Given the description of an element on the screen output the (x, y) to click on. 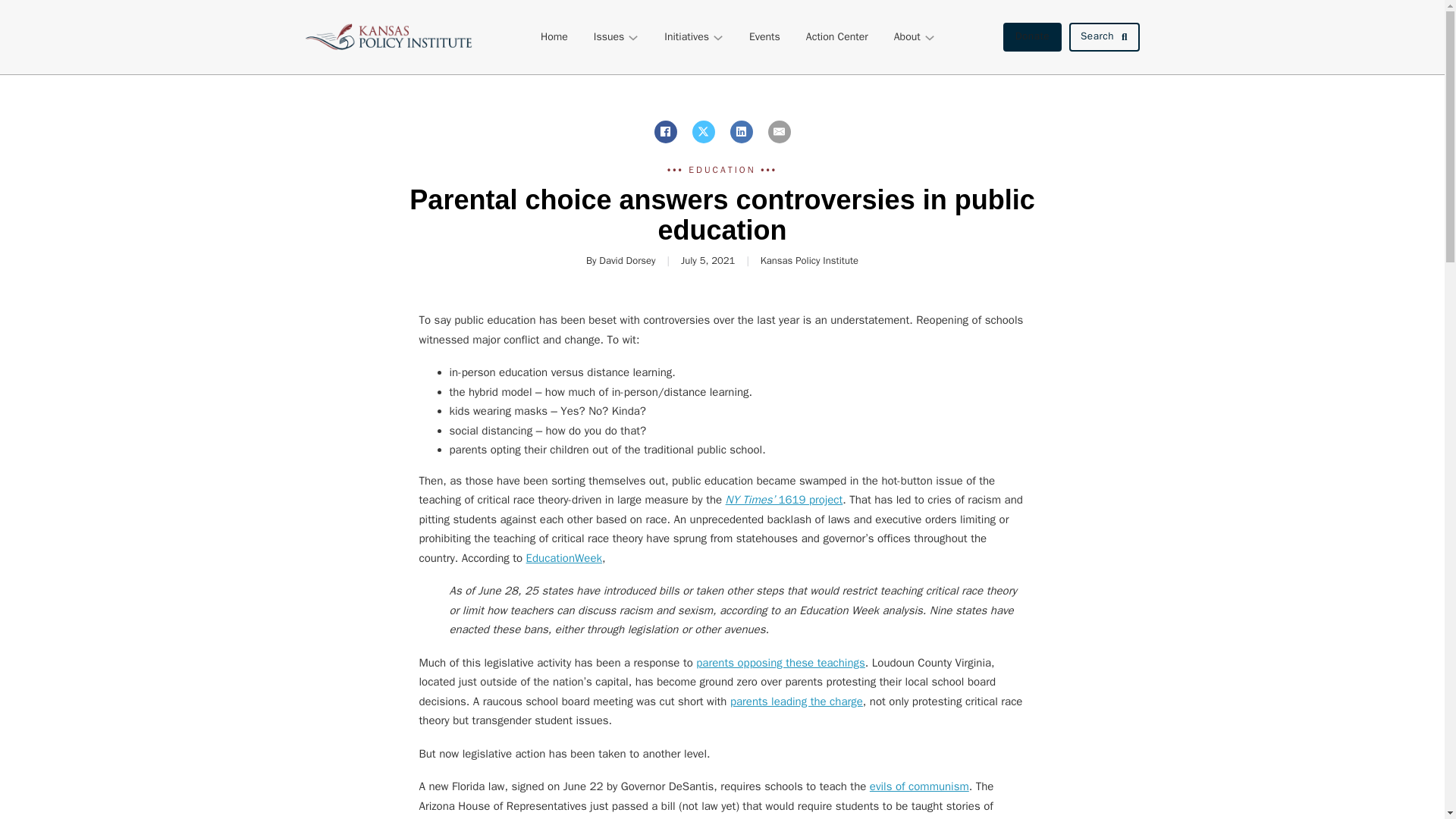
Events (764, 36)
Home (554, 36)
David Dorsey (626, 259)
Action Center (837, 36)
Search (1104, 36)
Donate (1032, 36)
EDUCATION (721, 169)
